Given the description of an element on the screen output the (x, y) to click on. 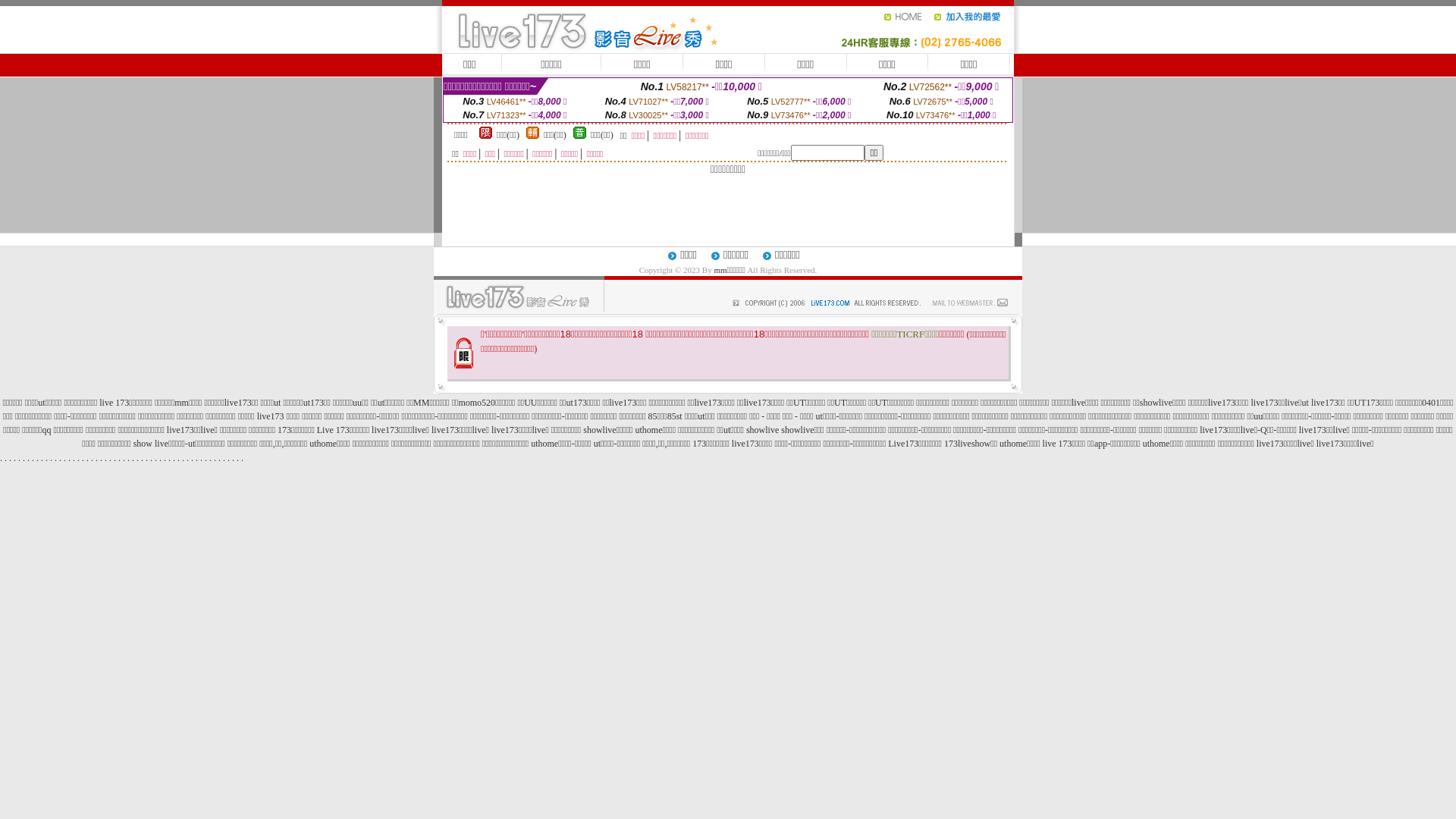
. Element type: text (164, 457)
. Element type: text (214, 457)
. Element type: text (223, 457)
. Element type: text (46, 457)
. Element type: text (242, 457)
. Element type: text (64, 457)
. Element type: text (19, 457)
. Element type: text (78, 457)
. Element type: text (160, 457)
. Element type: text (82, 457)
. Element type: text (69, 457)
. Element type: text (119, 457)
. Element type: text (137, 457)
. Element type: text (92, 457)
. Element type: text (14, 457)
. Element type: text (210, 457)
. Element type: text (41, 457)
. Element type: text (10, 457)
. Element type: text (205, 457)
. Element type: text (55, 457)
. Element type: text (142, 457)
. Element type: text (110, 457)
. Element type: text (5, 457)
. Element type: text (187, 457)
. Element type: text (151, 457)
. Element type: text (101, 457)
. Element type: text (28, 457)
. Element type: text (228, 457)
. Element type: text (114, 457)
. Element type: text (155, 457)
. Element type: text (169, 457)
. Element type: text (192, 457)
. Element type: text (183, 457)
. Element type: text (73, 457)
. Element type: text (219, 457)
. Element type: text (132, 457)
. Element type: text (233, 457)
. Element type: text (128, 457)
. Element type: text (237, 457)
. Element type: text (32, 457)
. Element type: text (196, 457)
. Element type: text (37, 457)
. Element type: text (51, 457)
. Element type: text (178, 457)
. Element type: text (23, 457)
. Element type: text (105, 457)
. Element type: text (201, 457)
. Element type: text (60, 457)
. Element type: text (173, 457)
. Element type: text (87, 457)
showlive Element type: text (762, 429)
. Element type: text (1, 457)
. Element type: text (96, 457)
. Element type: text (146, 457)
. Element type: text (123, 457)
